Given the description of an element on the screen output the (x, y) to click on. 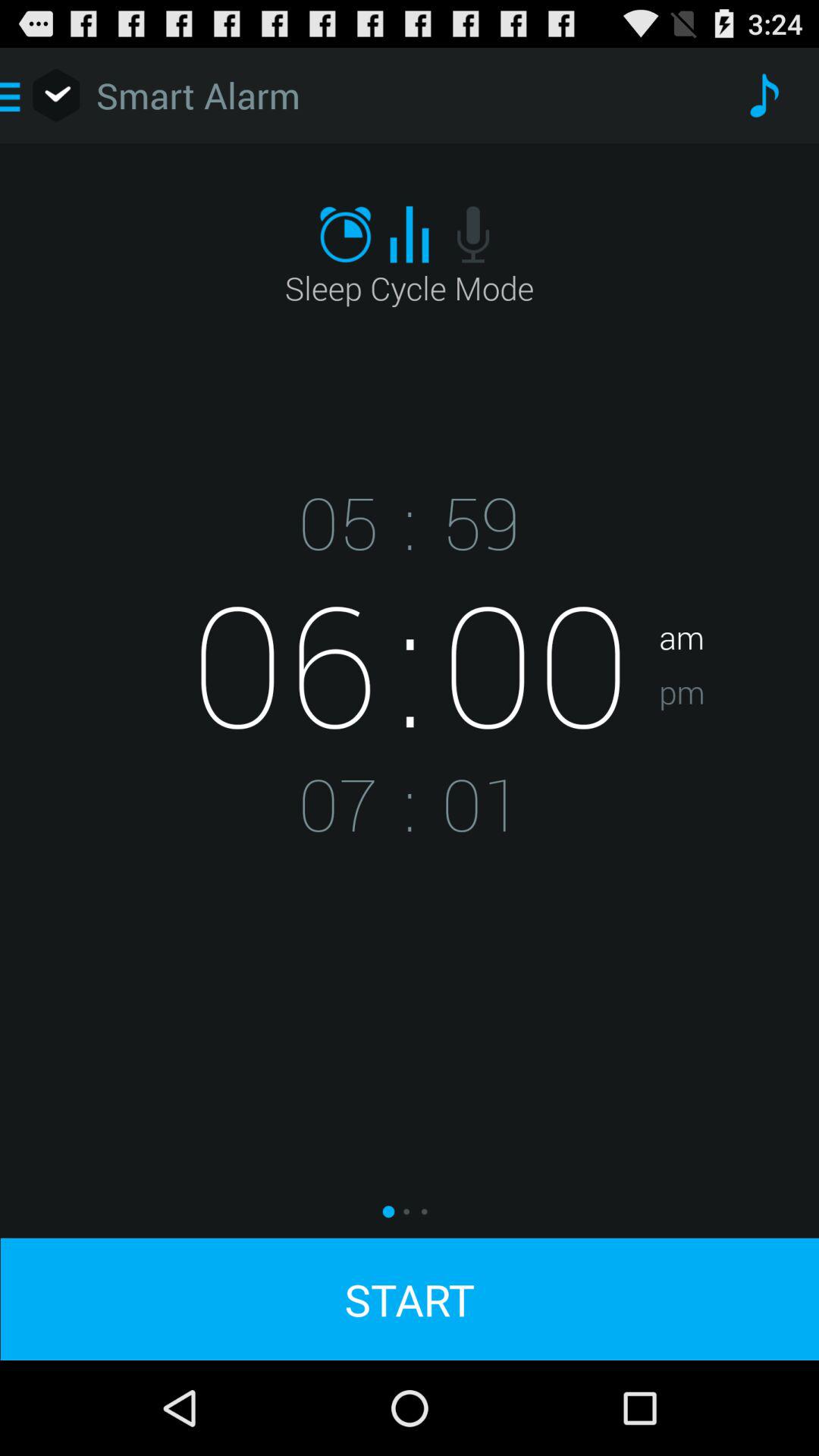
turn on app above pm (739, 589)
